Given the description of an element on the screen output the (x, y) to click on. 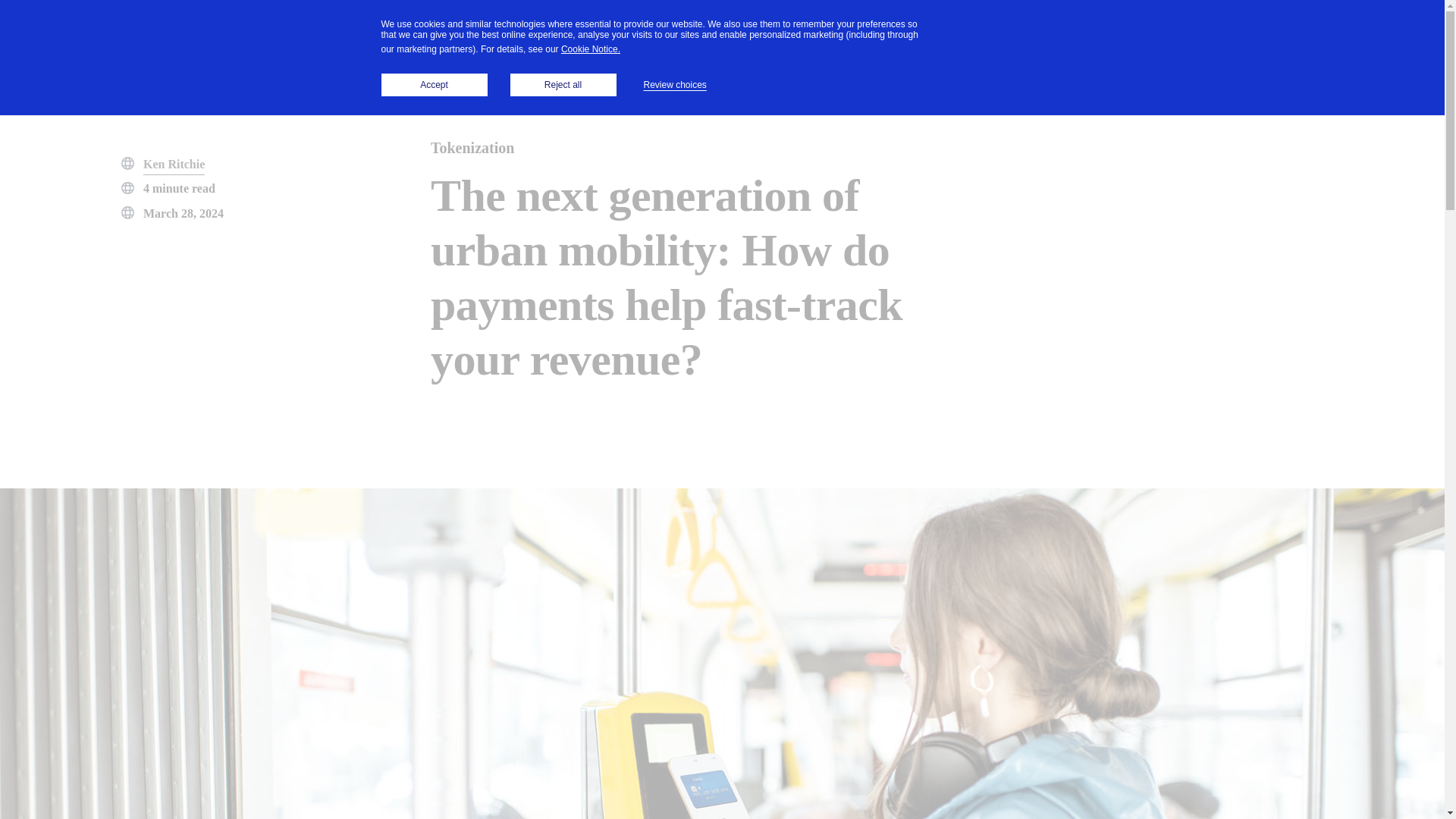
About Visa Acceptance Solutions (622, 31)
Company (622, 31)
Solutions (334, 31)
Contact us (1353, 31)
Why partner (228, 31)
Ken Ritchie (173, 164)
Developers (430, 31)
Developers (430, 31)
Resources (529, 31)
Company (622, 31)
